Given the description of an element on the screen output the (x, y) to click on. 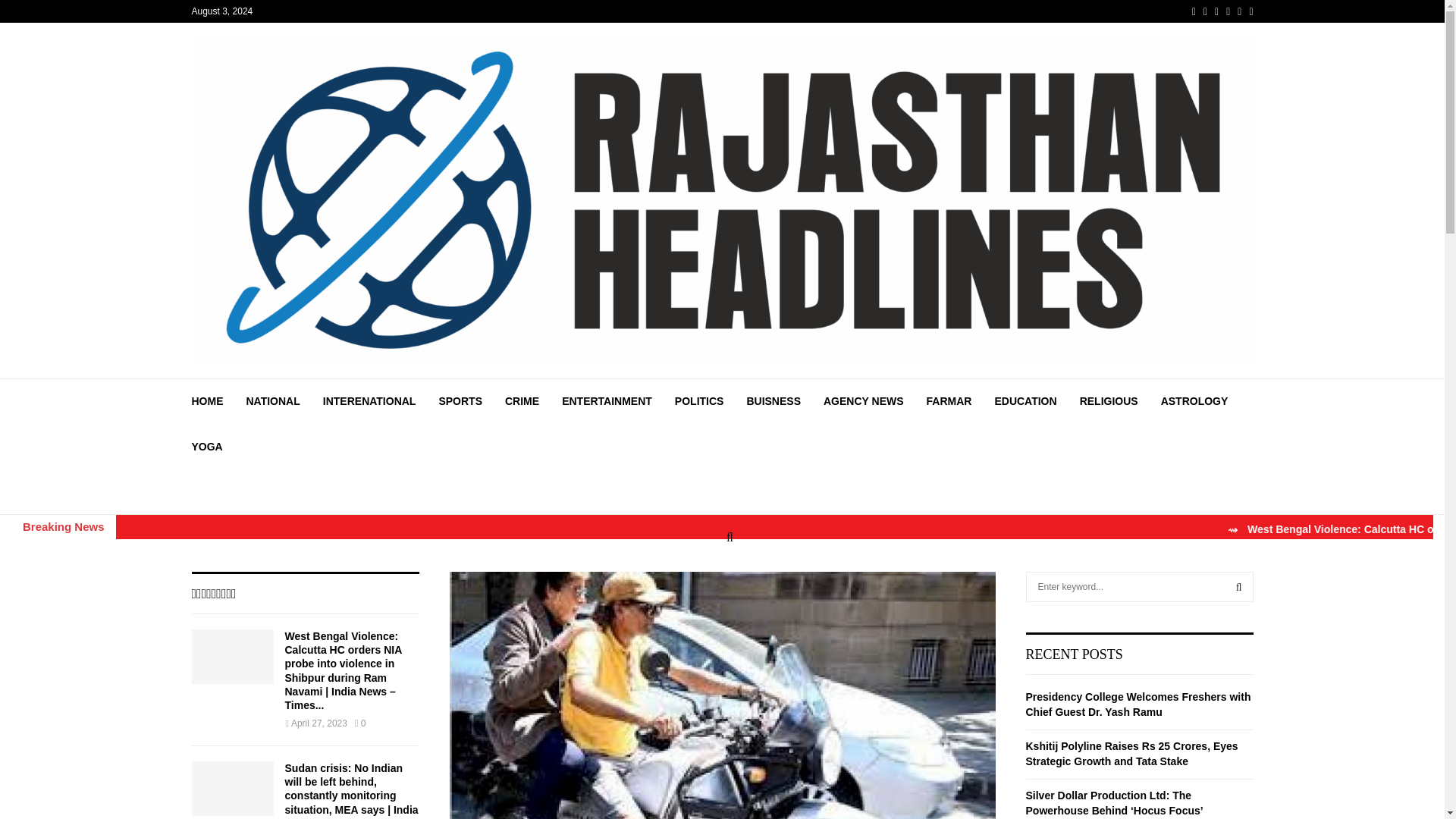
EDUCATION (1025, 401)
INTERENATIONAL (369, 401)
POLITICS (699, 401)
AGENCY NEWS (864, 401)
RELIGIOUS (1109, 401)
FARMAR (949, 401)
NATIONAL (272, 401)
ENTERTAINMENT (607, 401)
SPORTS (459, 401)
BUISNESS (772, 401)
ASTROLOGY (1194, 401)
